Given the description of an element on the screen output the (x, y) to click on. 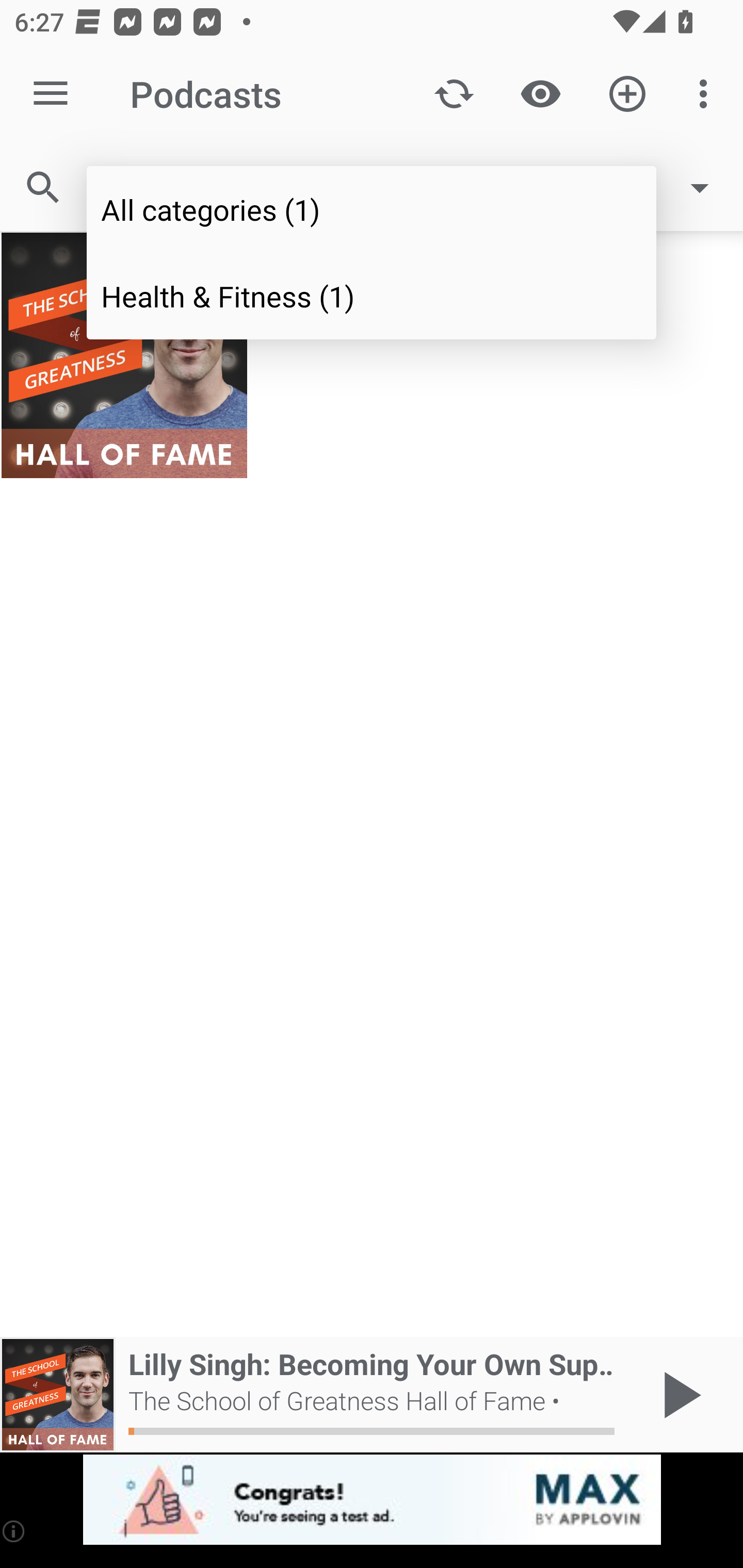
All categories (1) (371, 209)
Health & Fitness (1) (371, 295)
